Given the description of an element on the screen output the (x, y) to click on. 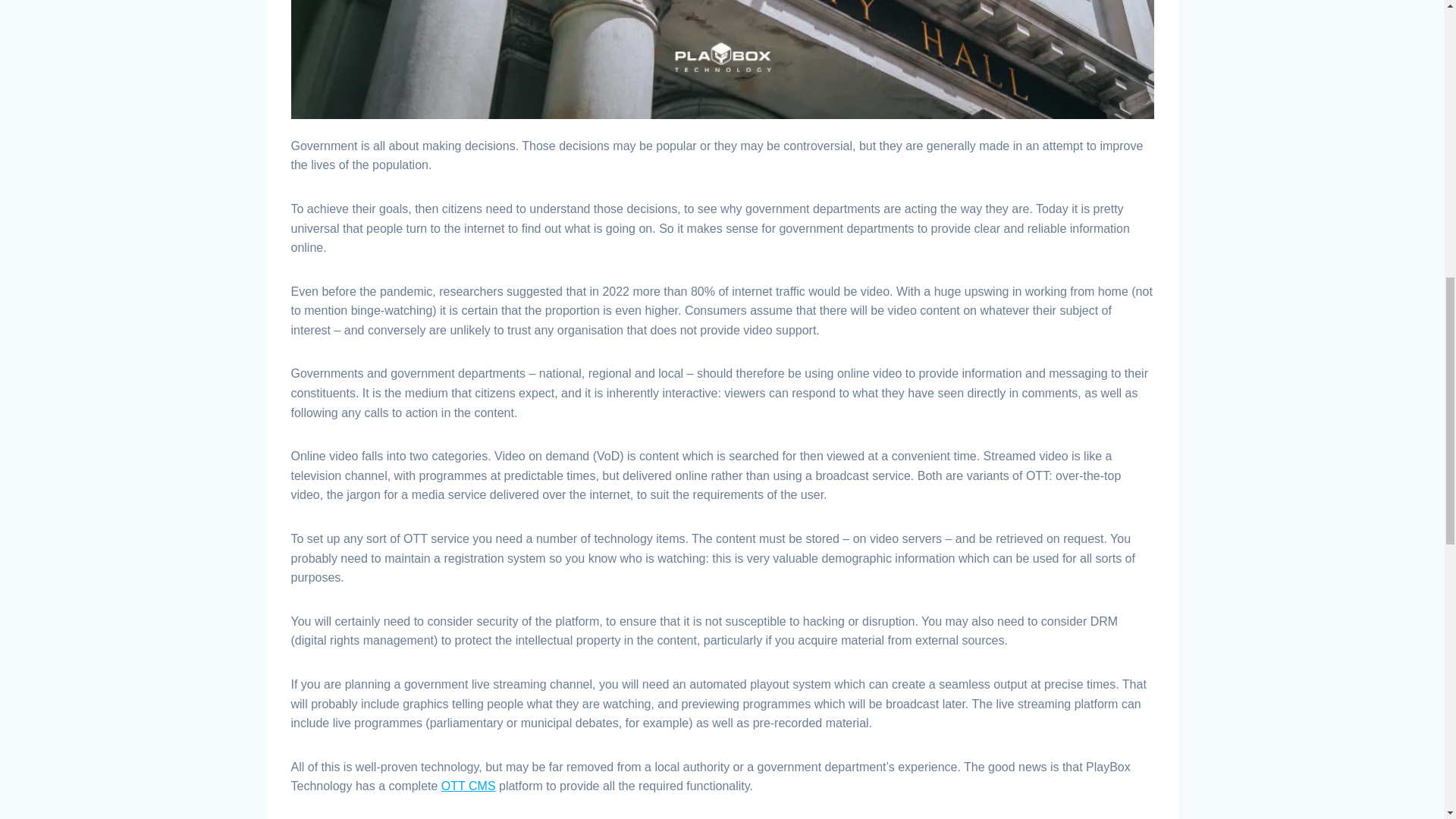
OTT CMS (468, 785)
